Given the description of an element on the screen output the (x, y) to click on. 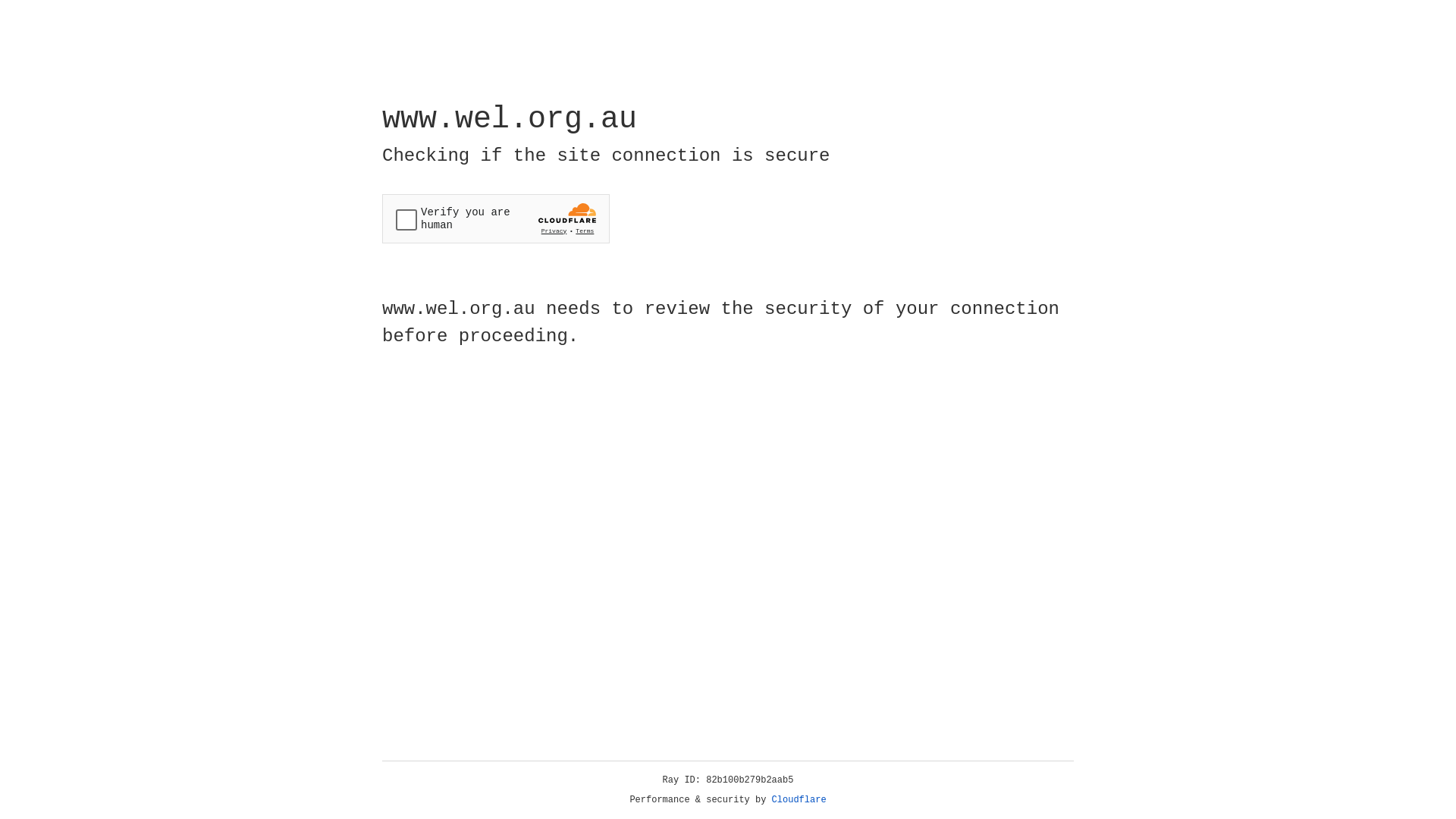
Cloudflare Element type: text (798, 799)
Widget containing a Cloudflare security challenge Element type: hover (495, 218)
